Given the description of an element on the screen output the (x, y) to click on. 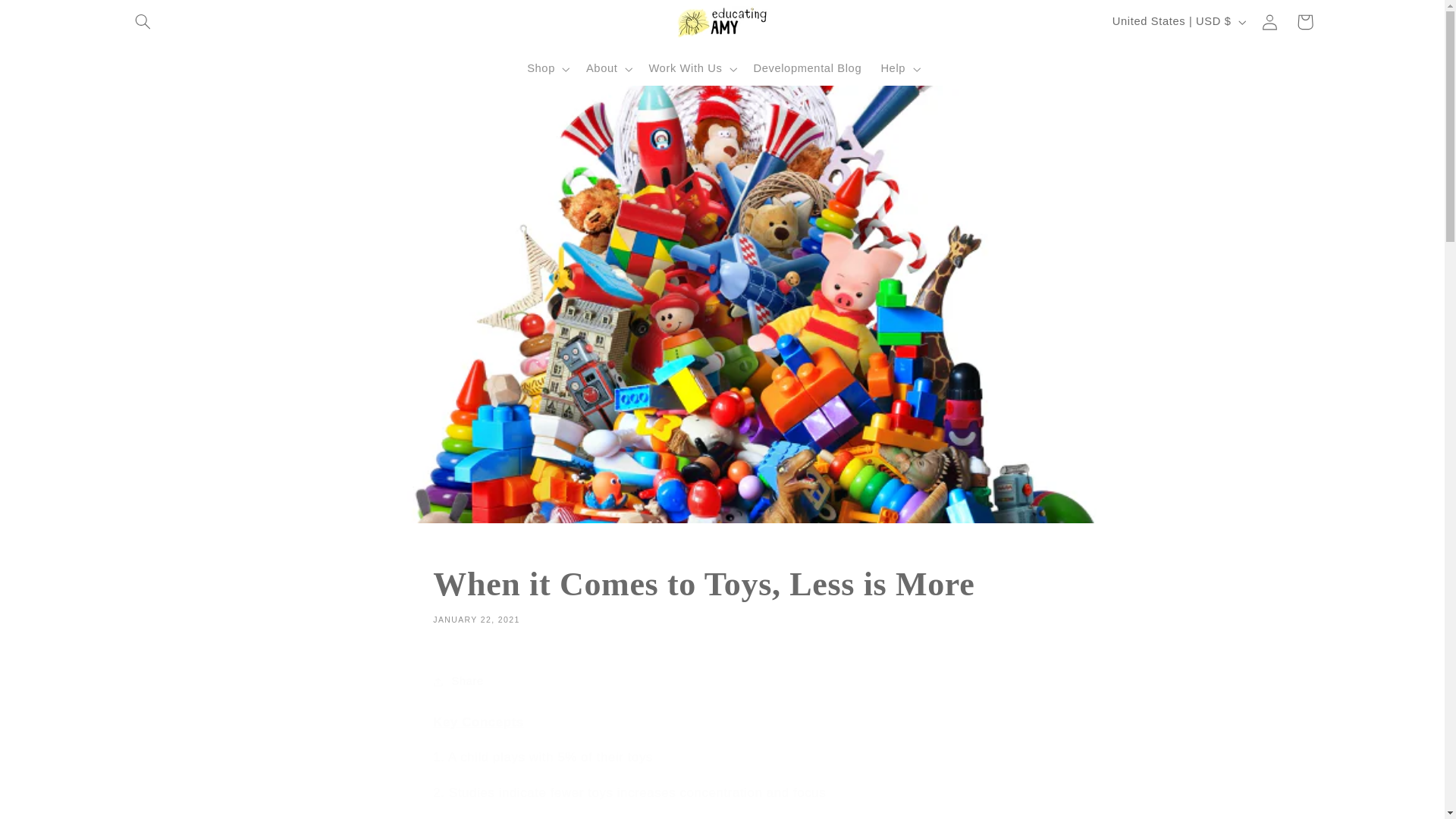
Skip to content (47, 17)
Share (721, 593)
